Given the description of an element on the screen output the (x, y) to click on. 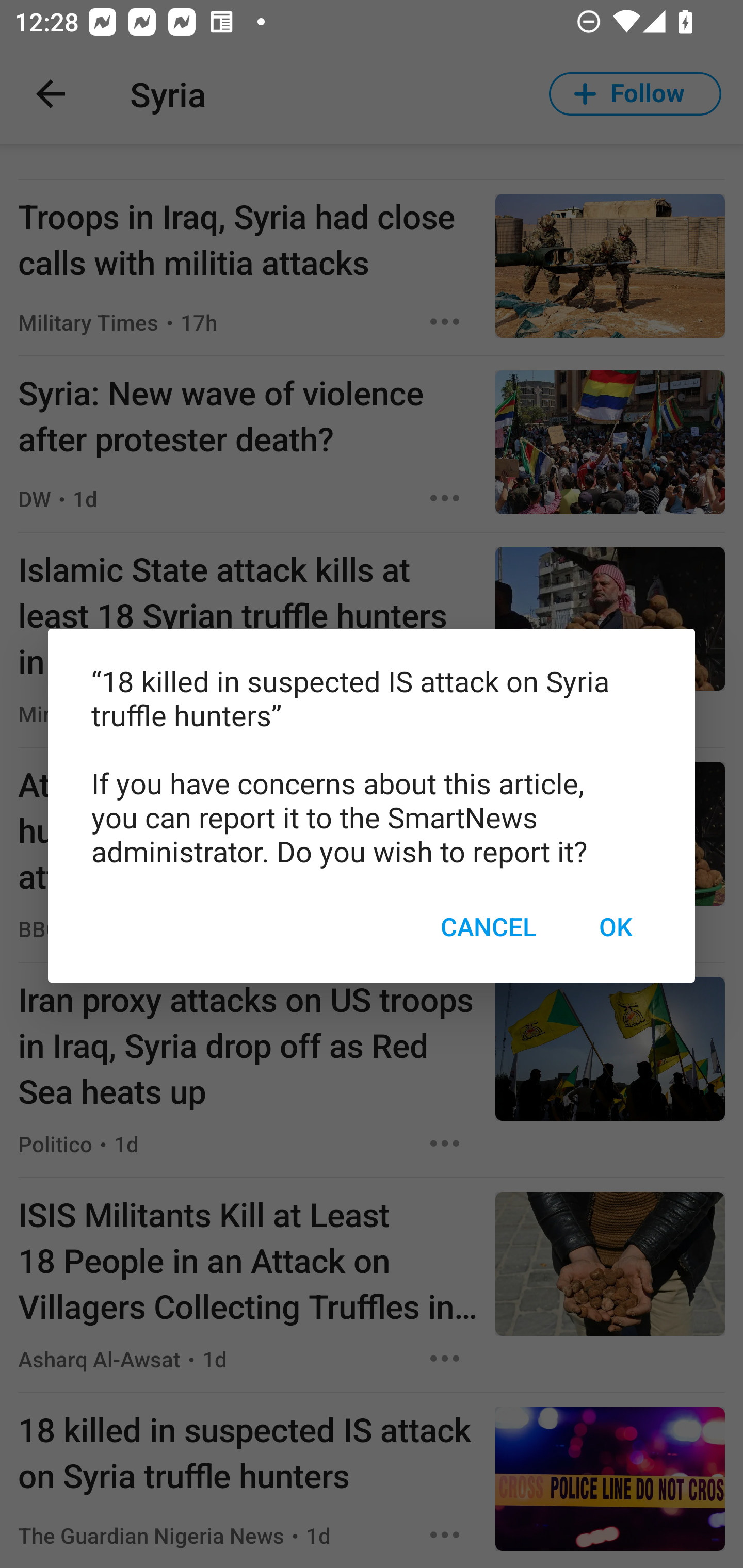
CANCEL (488, 926)
OK (615, 926)
